Given the description of an element on the screen output the (x, y) to click on. 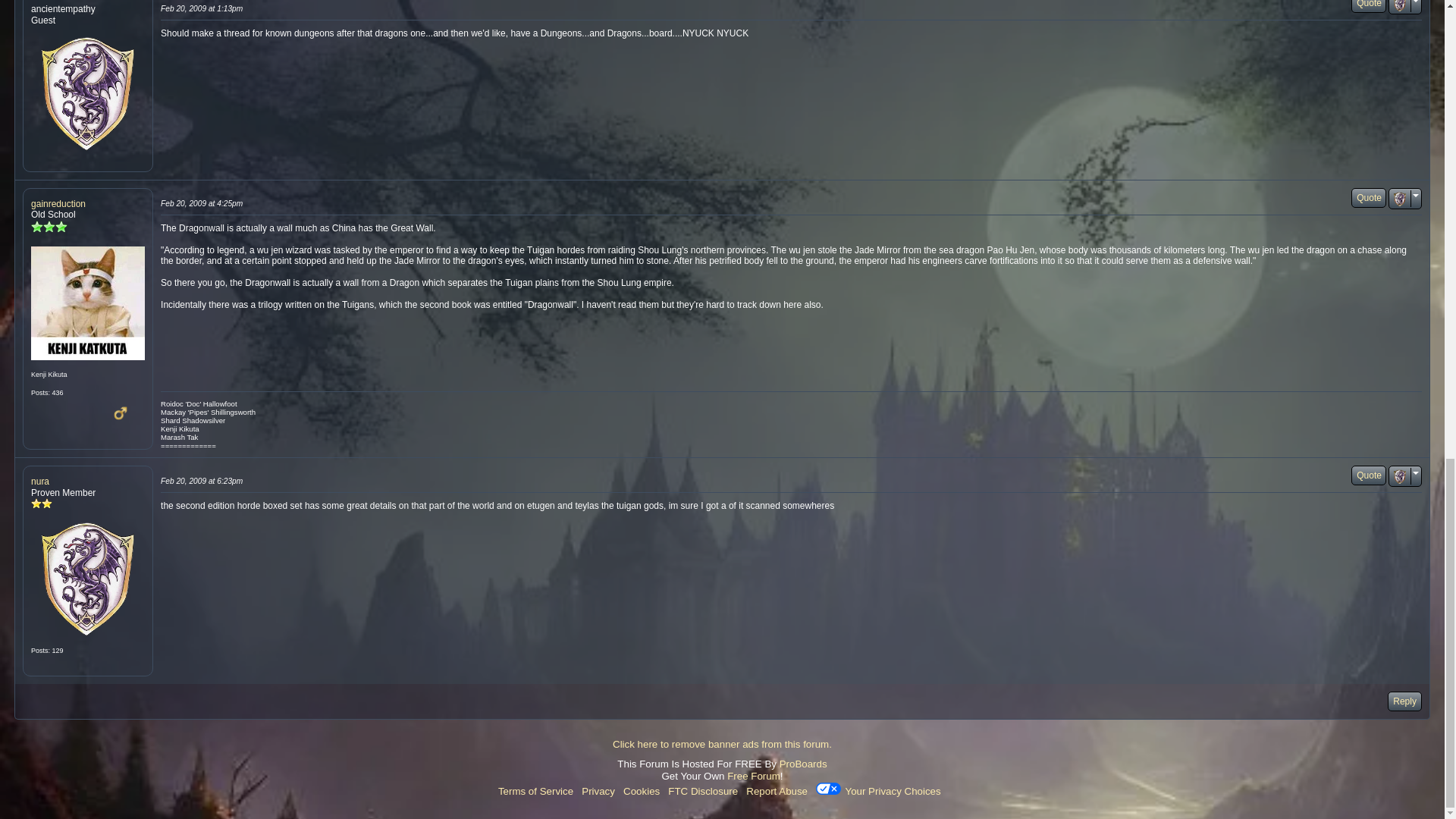
Guest (87, 93)
